Given the description of an element on the screen output the (x, y) to click on. 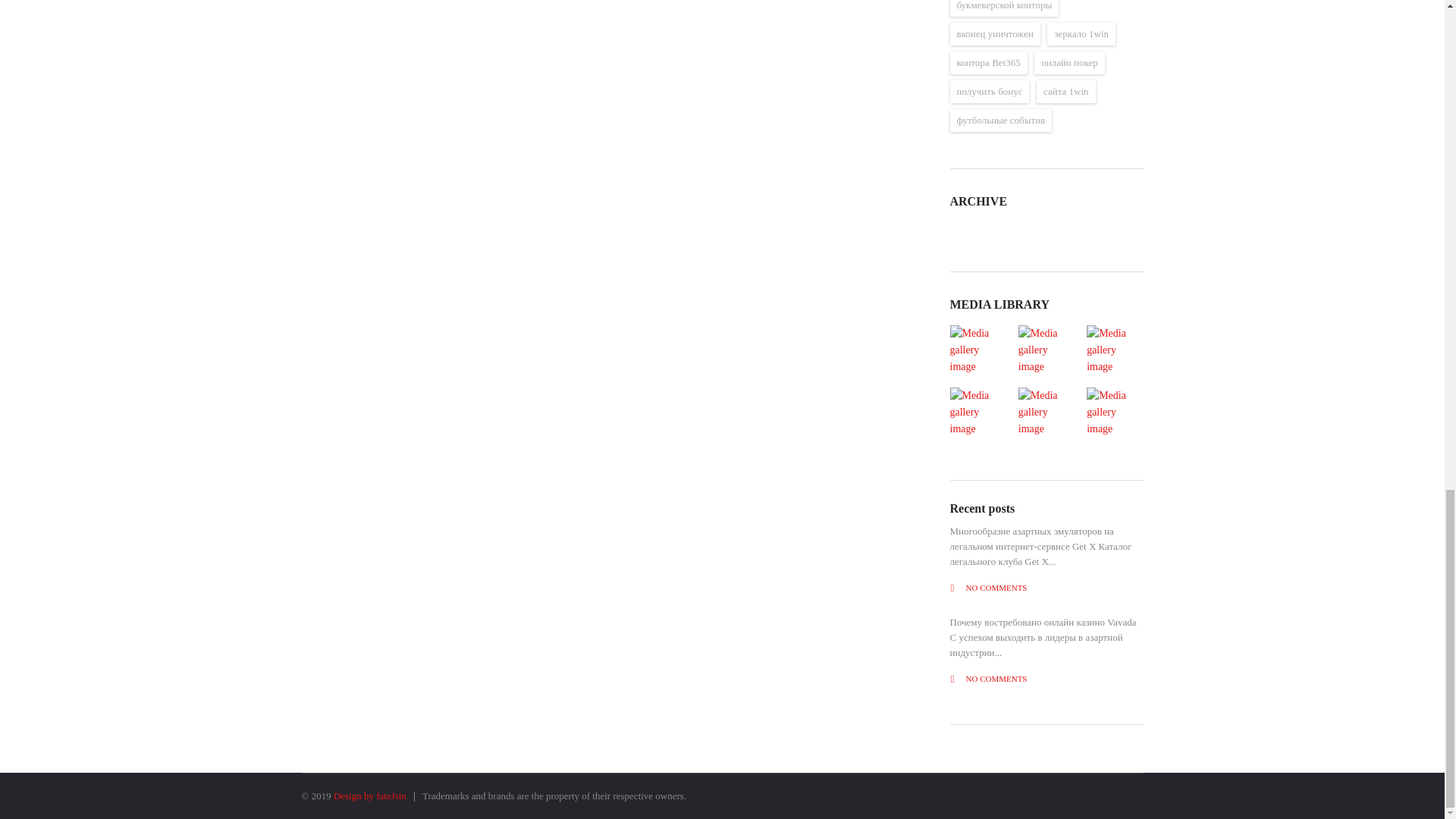
Watch in popup (1114, 350)
Watch in popup (1045, 350)
Watch in popup (1045, 412)
Watch in popup (977, 412)
Watch in popup (1114, 412)
Watch in popup (977, 350)
